Given the description of an element on the screen output the (x, y) to click on. 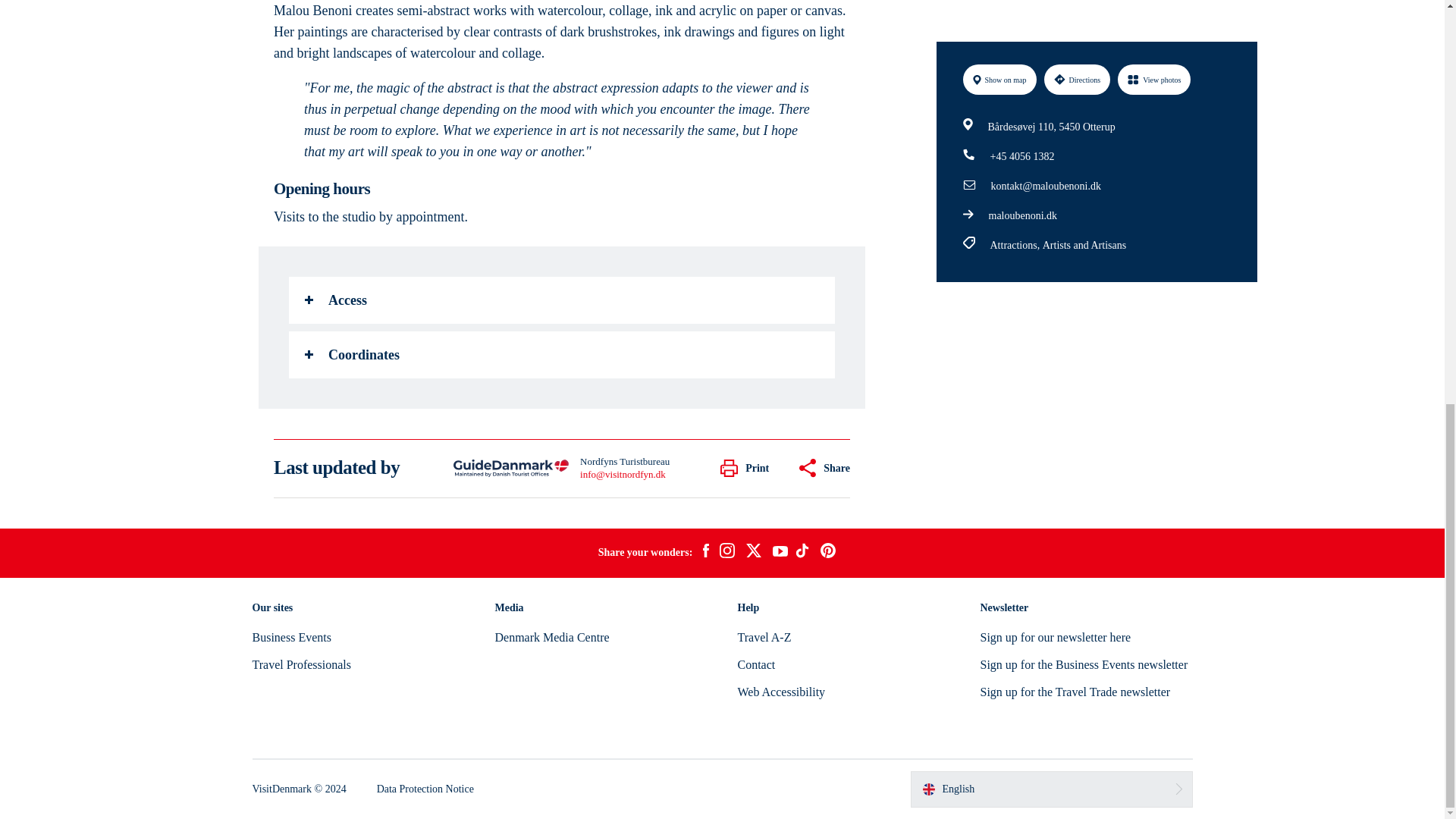
Travel Professionals (300, 664)
Web Accessibility (780, 691)
Business Events (290, 636)
Sign up for our newsletter here (1055, 636)
facebook (705, 552)
youtube (780, 553)
Travel Professionals (300, 664)
Travel A-Z (763, 636)
instagram (726, 552)
tiktok (804, 552)
